Given the description of an element on the screen output the (x, y) to click on. 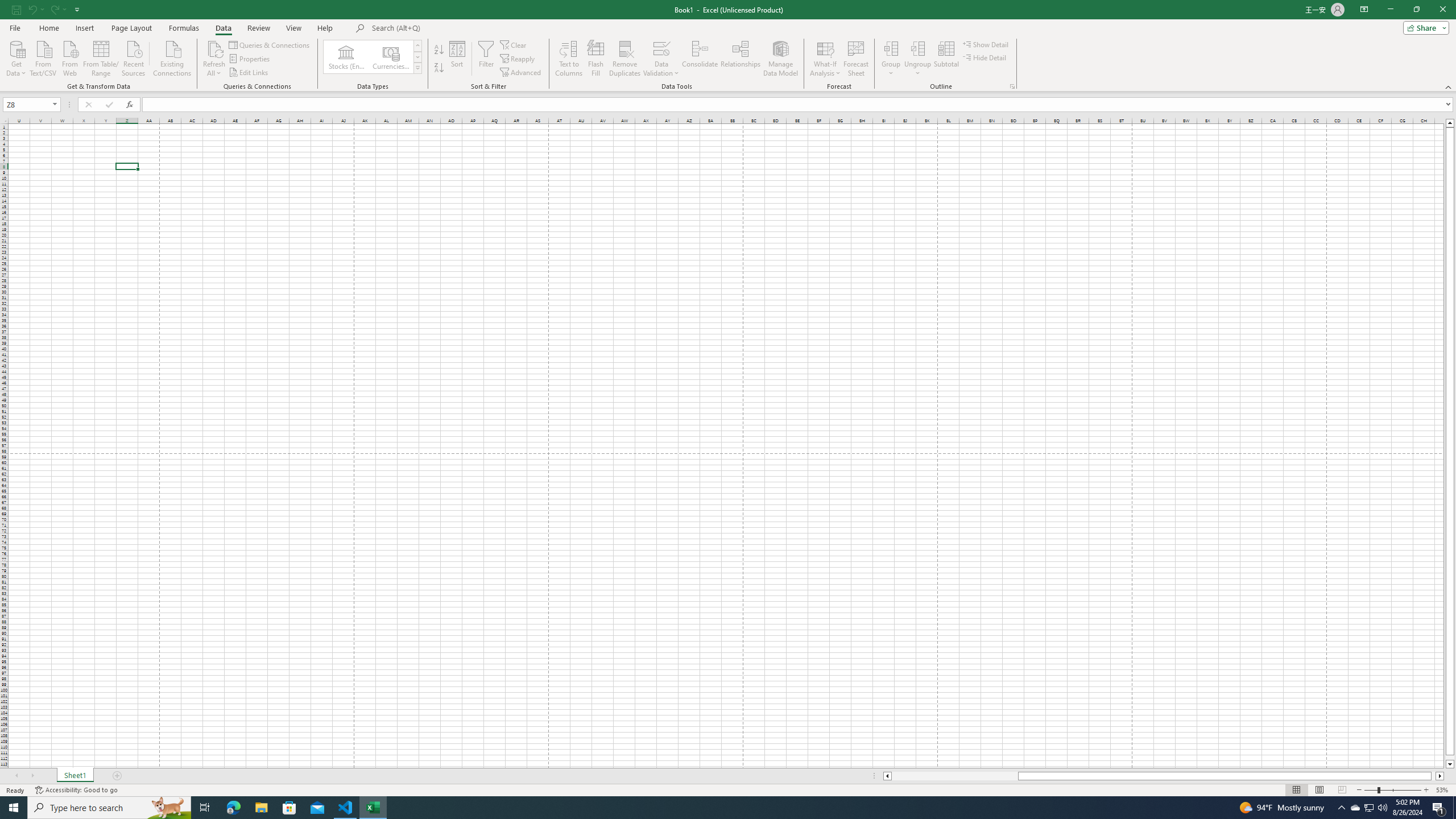
Customize Quick Access Toolbar (77, 9)
Recent Sources (133, 57)
Edit Links (249, 72)
Accessibility Checker Accessibility: Good to go (76, 790)
Home (48, 28)
Column right (1440, 775)
File Tab (15, 27)
Refresh All (214, 58)
Flash Fill (595, 58)
Zoom In (1426, 790)
Show Detail (985, 44)
Zoom (1392, 790)
